Given the description of an element on the screen output the (x, y) to click on. 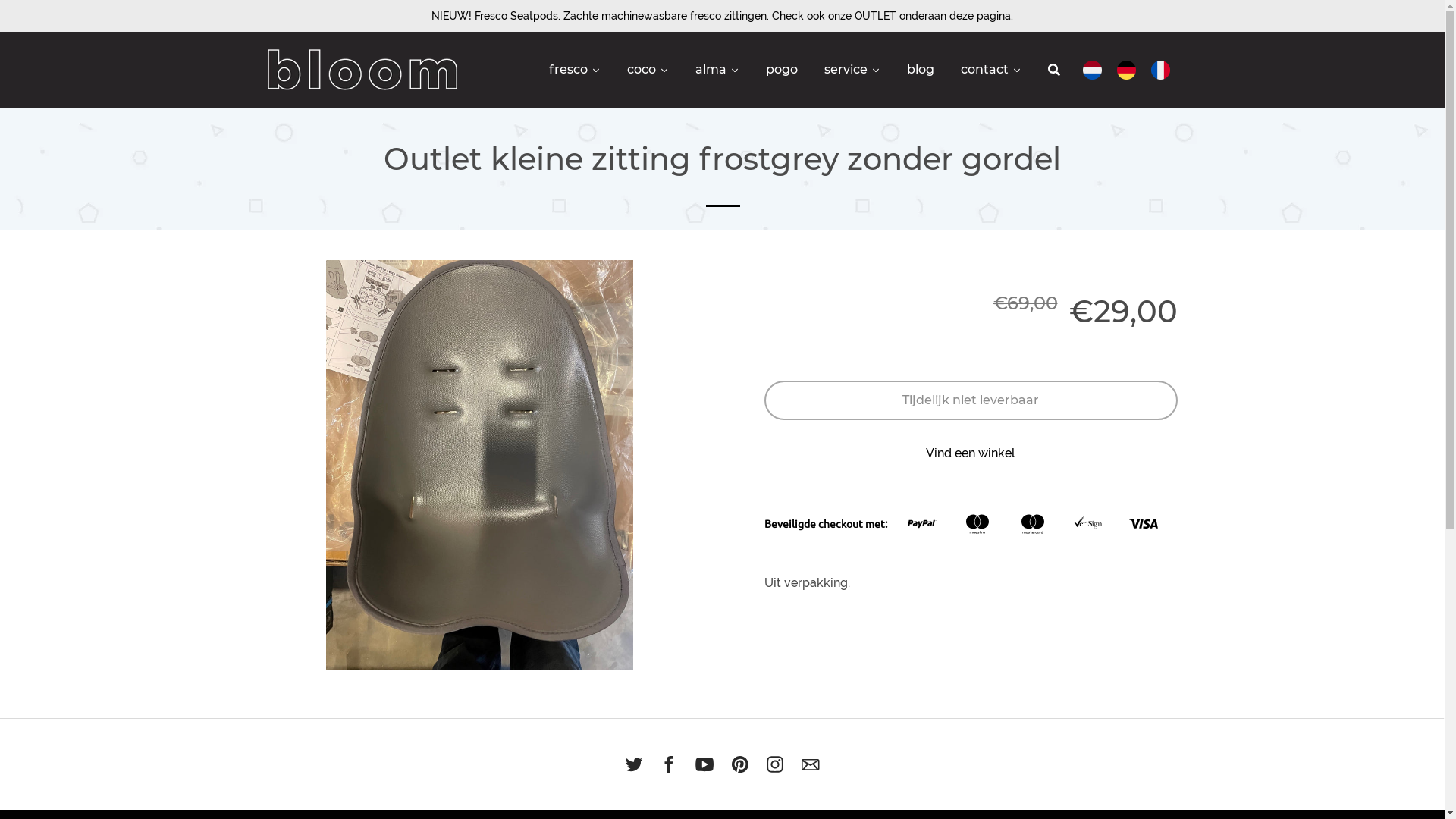
fresco Element type: text (576, 69)
pogo Element type: text (783, 69)
Vind een winkel Element type: text (970, 453)
service Element type: text (853, 69)
coco Element type: text (648, 69)
contact Element type: text (992, 69)
blog Element type: text (922, 69)
Tijdelijk niet leverbaar Element type: text (970, 400)
alma Element type: text (718, 69)
